Given the description of an element on the screen output the (x, y) to click on. 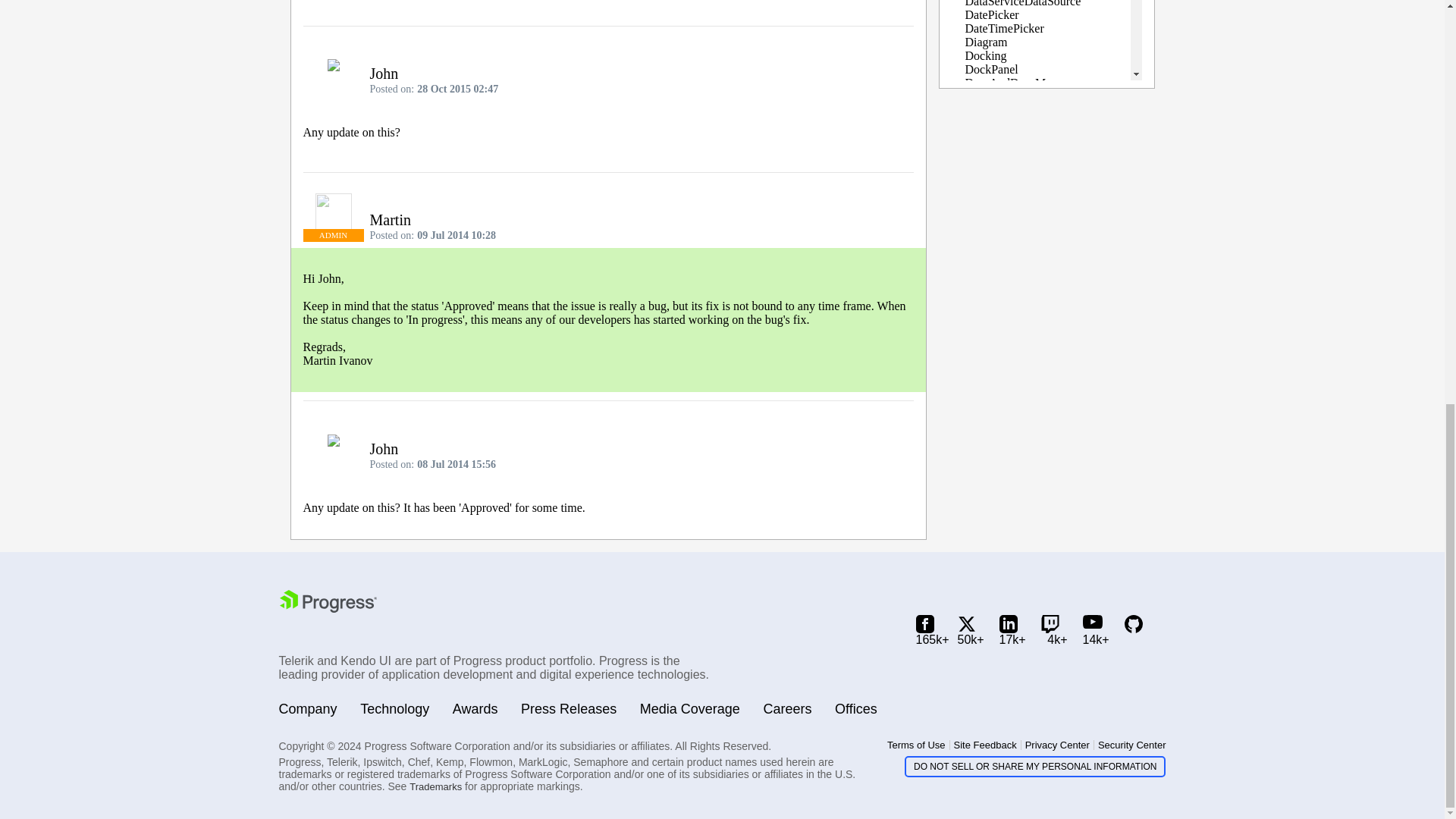
X (970, 630)
Facebook (928, 630)
Twitch (1054, 630)
YouTube (1096, 630)
GitHub (1137, 630)
LinkedIn (1012, 630)
